Given the description of an element on the screen output the (x, y) to click on. 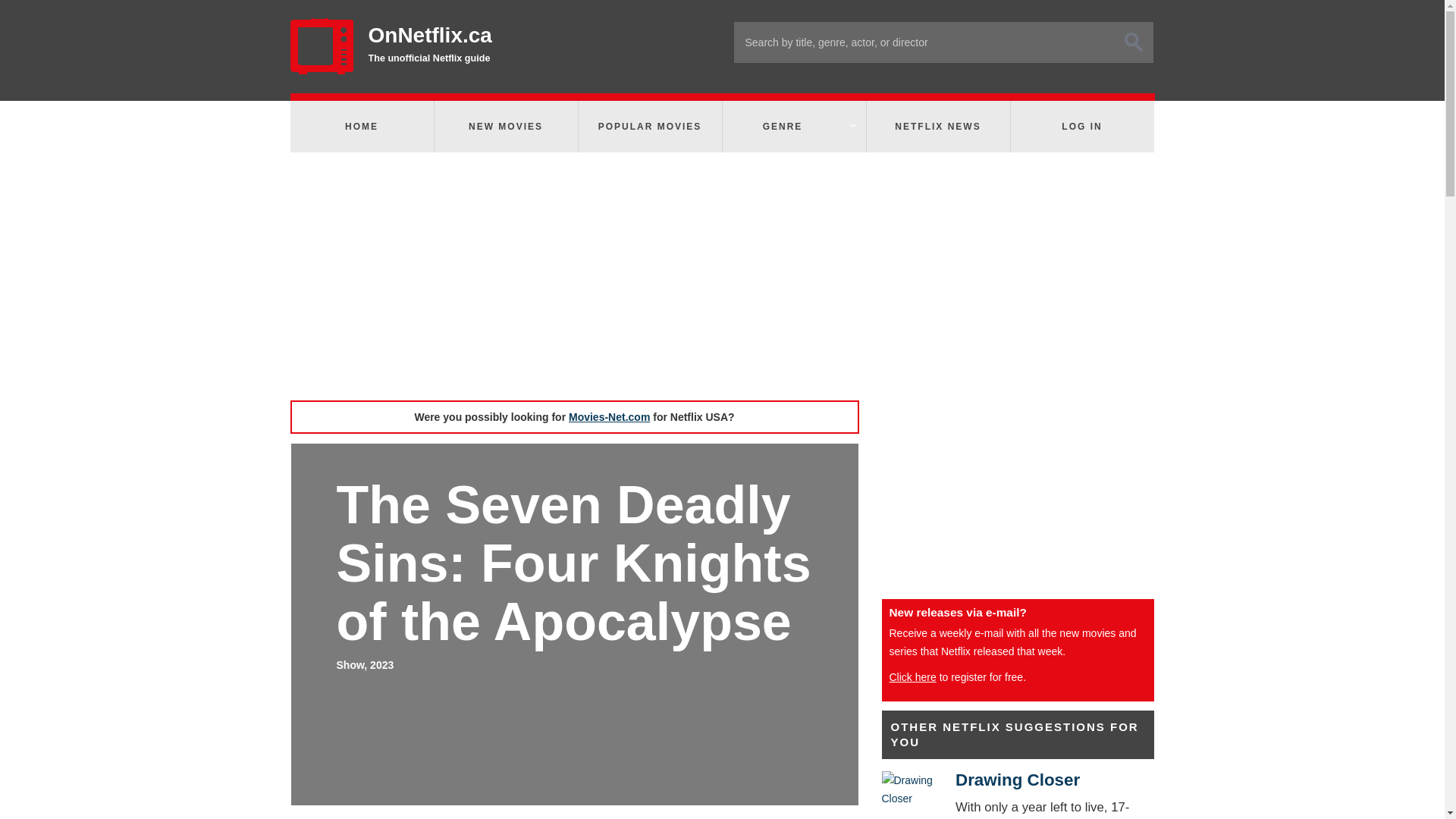
NETFLIX NEWS (937, 126)
Drawing Closer (905, 788)
LOG IN (1081, 126)
NEW MOVIES (504, 126)
POPULAR MOVIES (649, 126)
GENRE (793, 126)
Movies-Net.com (609, 417)
HOME (360, 126)
